Given the description of an element on the screen output the (x, y) to click on. 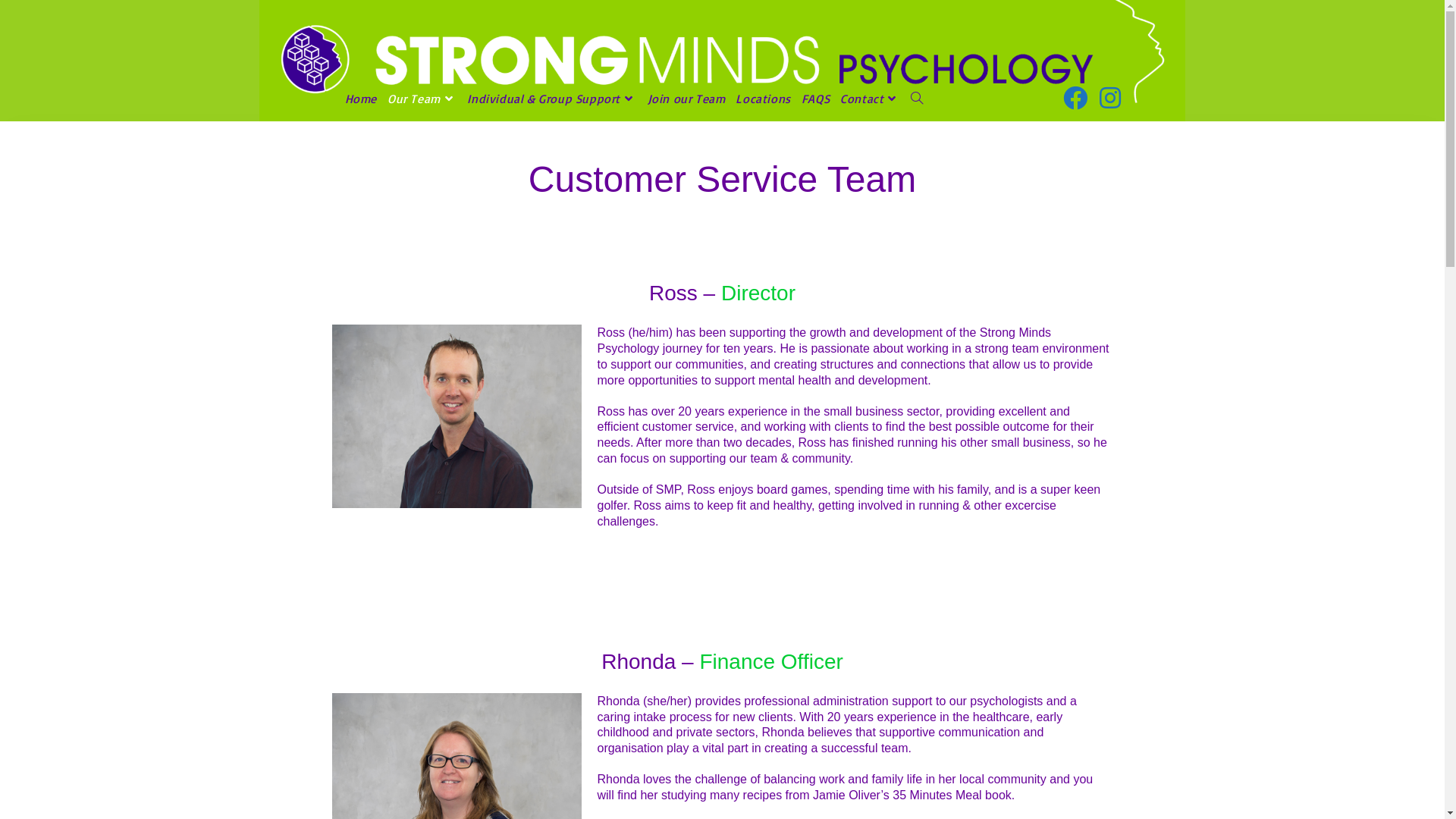
strongminds.net.au - Element type: text (544, 802)
Individual & Group Support Element type: text (551, 98)
strongmindspsychology.net.au Element type: text (763, 802)
FAQS Element type: text (815, 98)
Home Element type: text (360, 98)
Site by Area IT Element type: text (911, 802)
Join our Team Element type: text (686, 98)
unnamed (1) Element type: hover (487, 682)
strongmindspsychology.com.au - Element type: text (644, 802)
We are LGBTQIA+ Allies Element type: text (487, 440)
Our Team Element type: text (421, 98)
unnamed (2) Element type: hover (581, 682)
unnamed Element type: hover (581, 446)
Locations Element type: text (762, 98)
Contact Element type: text (869, 98)
